Given the description of an element on the screen output the (x, y) to click on. 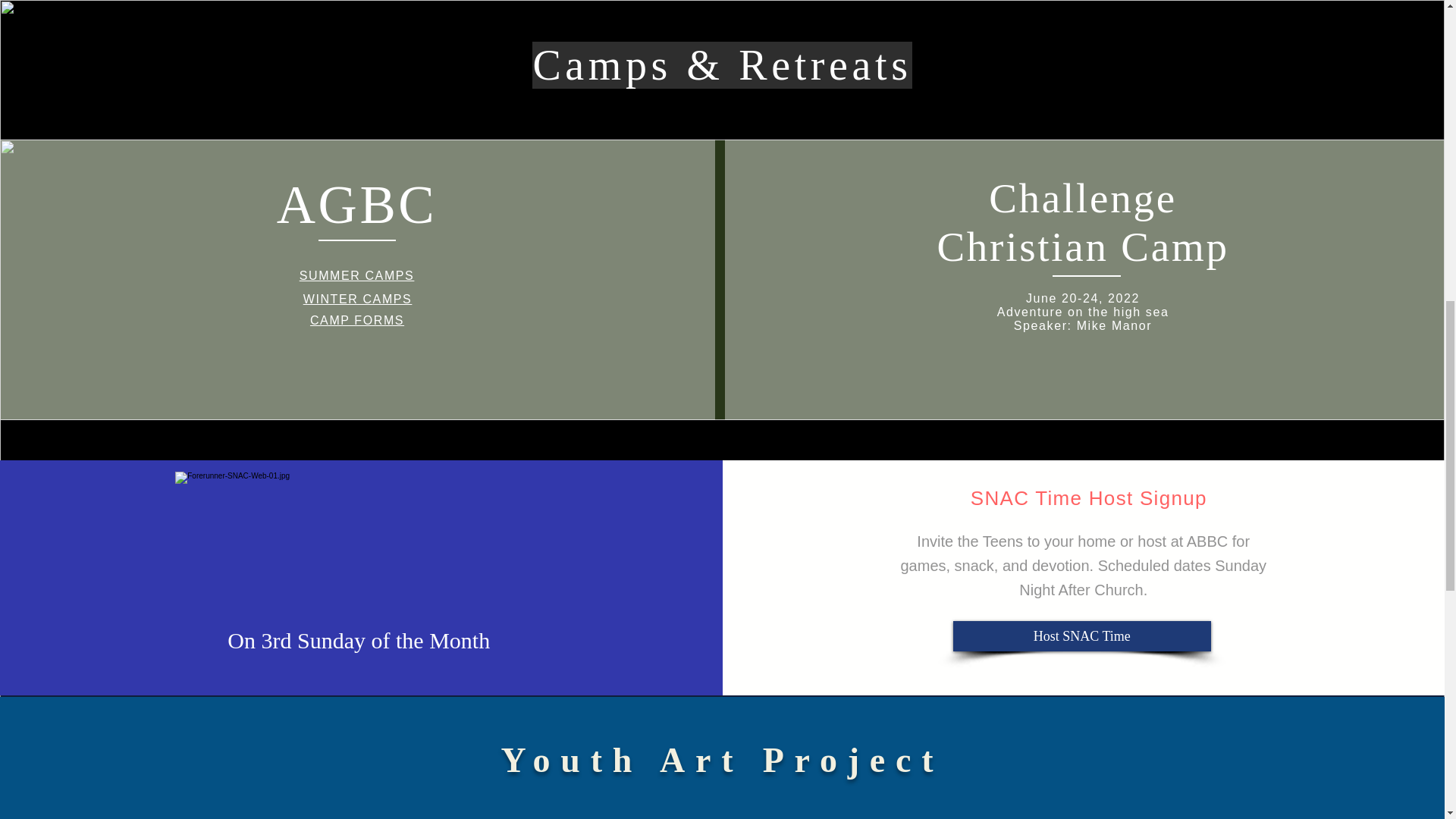
WINTER CAMPS (357, 298)
SUMMER CAMPS (356, 275)
CAMP FORMS (357, 319)
Host SNAC Time (1082, 635)
